Given the description of an element on the screen output the (x, y) to click on. 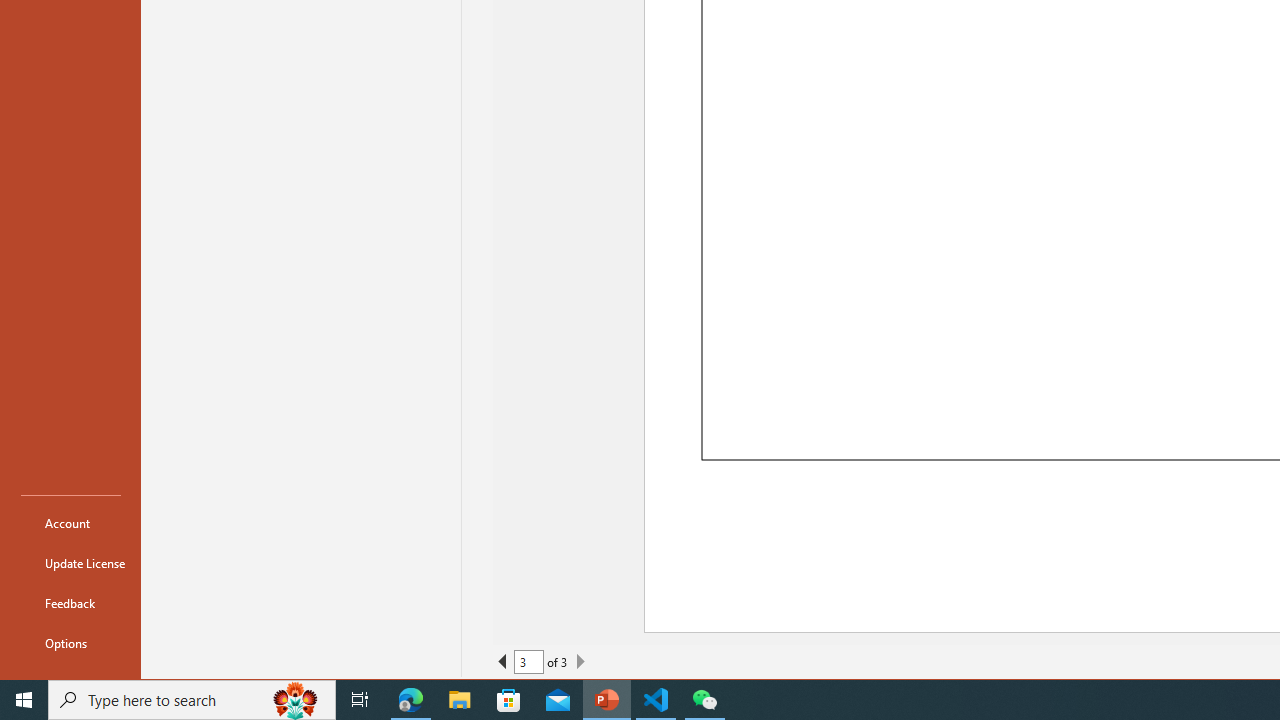
Type here to search (191, 699)
Visual Studio Code - 1 running window (656, 699)
Current Page (528, 661)
